Given the description of an element on the screen output the (x, y) to click on. 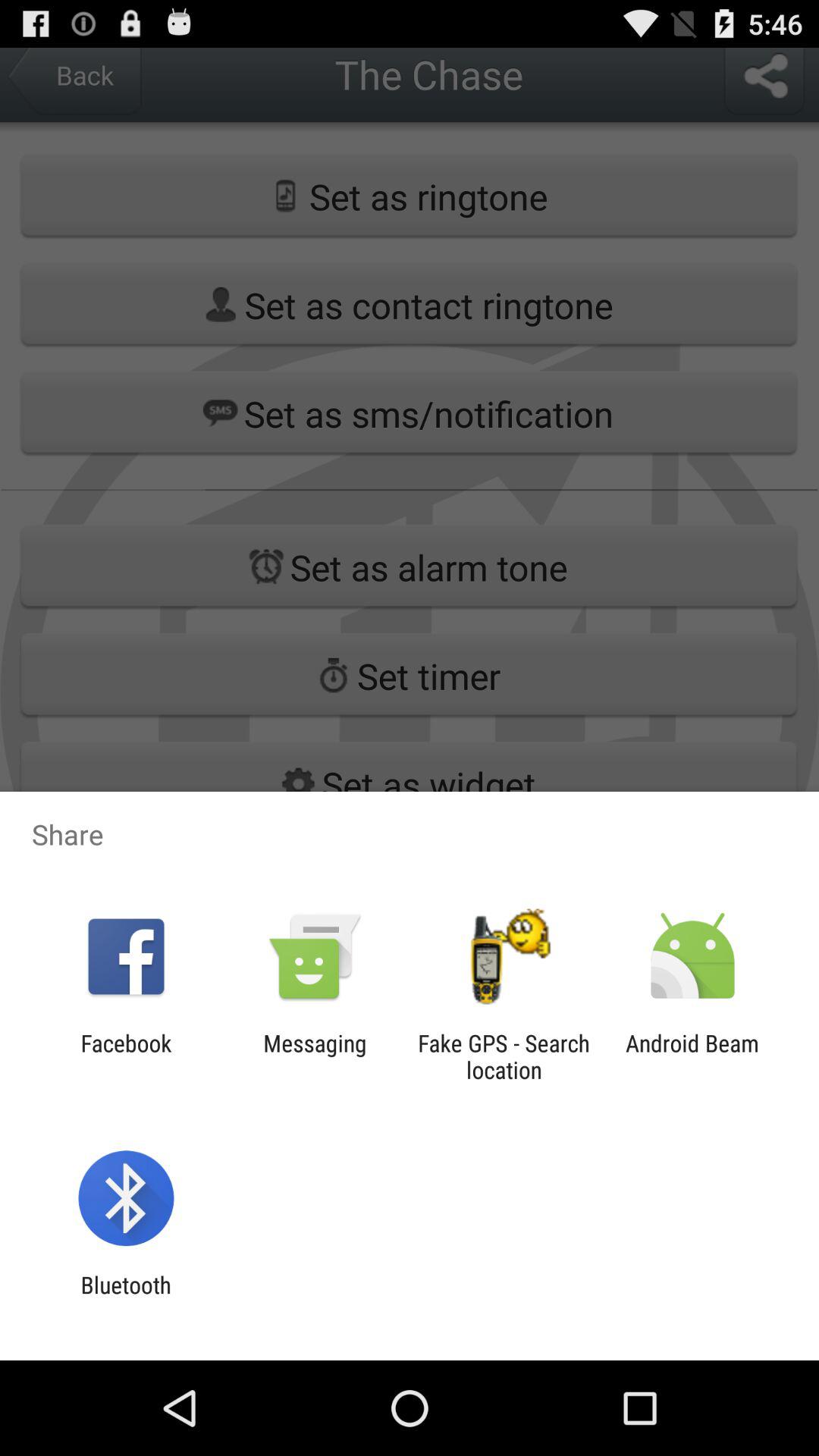
swipe until messaging item (314, 1056)
